Given the description of an element on the screen output the (x, y) to click on. 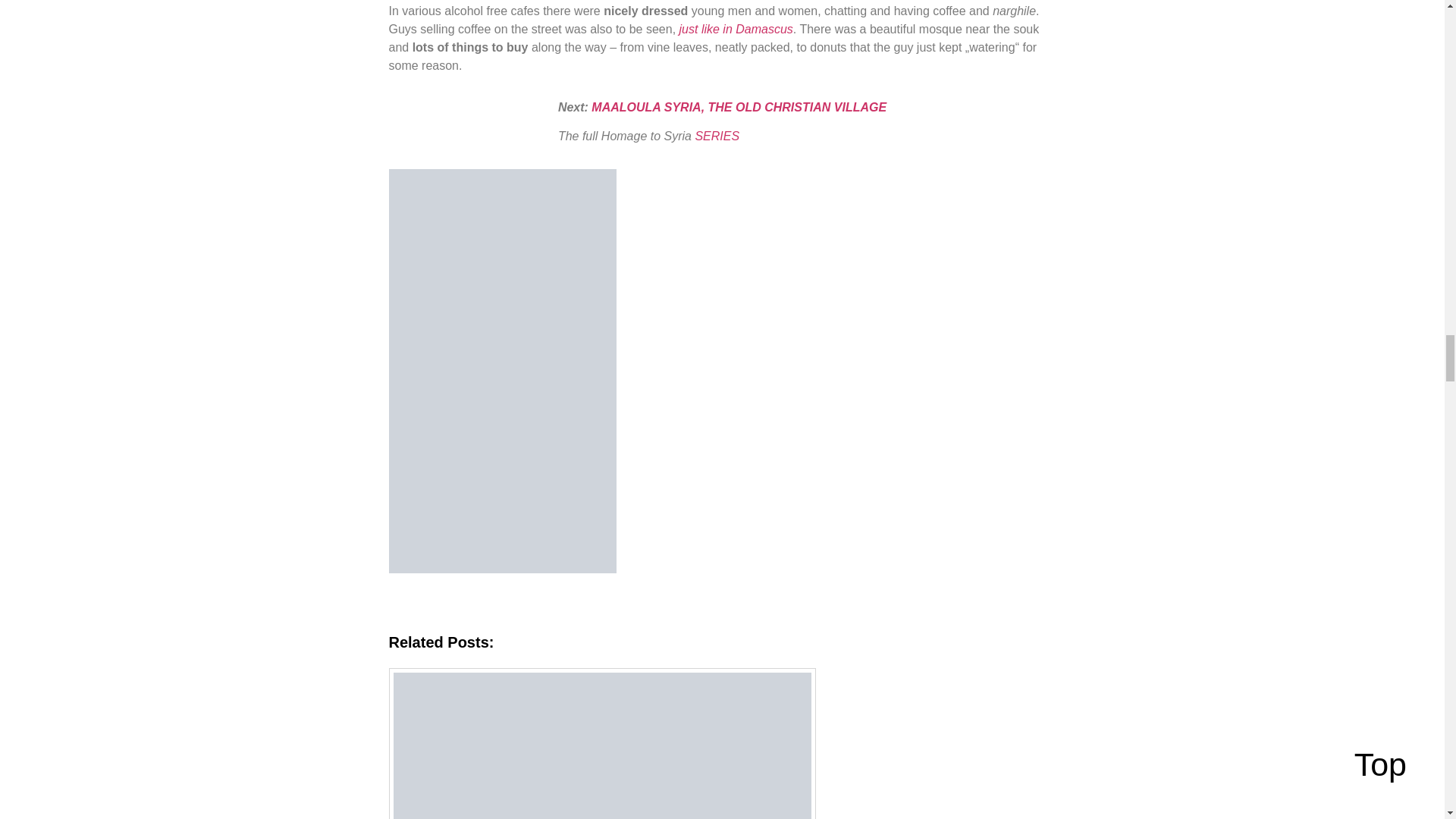
MAALOULA SYRIA, THE OLD CHRISTIAN VILLAGE (738, 106)
SERIES (716, 135)
just like in Damascus (736, 29)
